Given the description of an element on the screen output the (x, y) to click on. 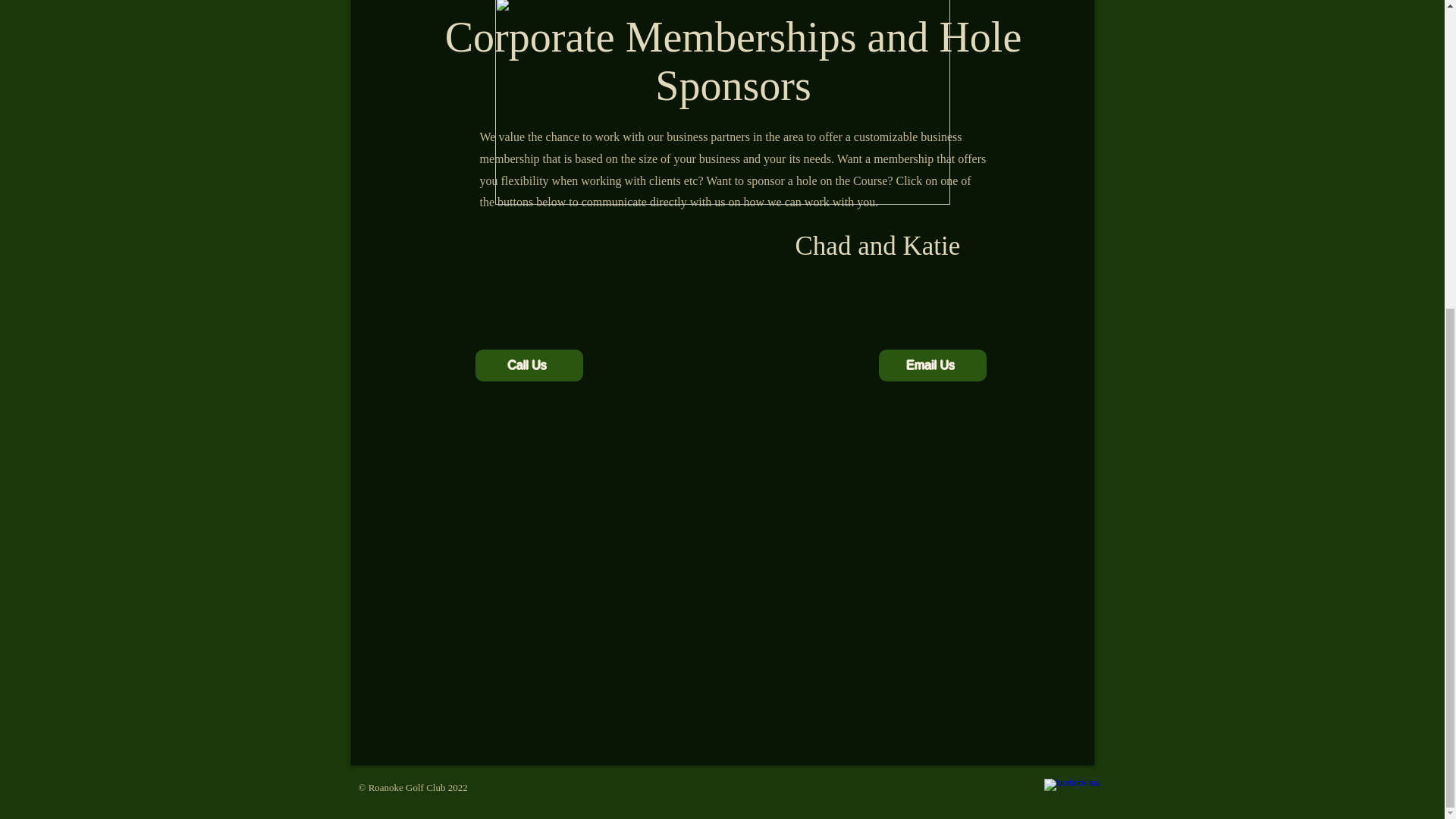
Email Us (931, 365)
Call Us (528, 365)
E8wHf1674068658.jpg (722, 102)
